Given the description of an element on the screen output the (x, y) to click on. 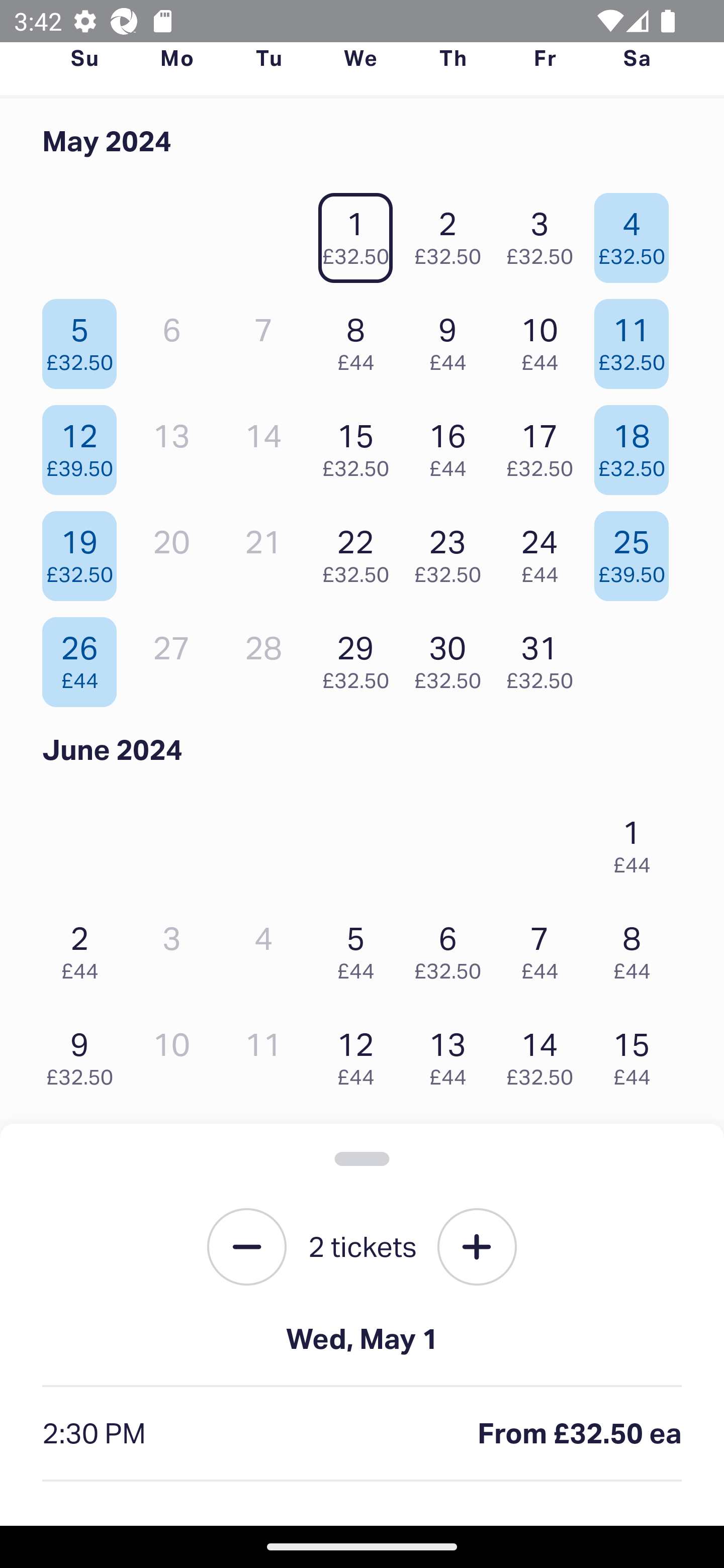
1 £32.50 (360, 232)
2 £32.50 (452, 232)
3 £32.50 (544, 232)
4 £32.50 (636, 232)
5 £32.50 (84, 339)
8 £44 (360, 339)
9 £44 (452, 339)
10 £44 (544, 339)
11 £32.50 (636, 339)
12 £39.50 (84, 445)
15 £32.50 (360, 445)
16 £44 (452, 445)
17 £32.50 (544, 445)
18 £32.50 (636, 445)
19 £32.50 (84, 550)
22 £32.50 (360, 550)
23 £32.50 (452, 550)
24 £44 (544, 550)
25 £39.50 (636, 550)
26 £44 (84, 657)
29 £32.50 (360, 657)
30 £32.50 (452, 657)
31 £32.50 (544, 657)
1 £44 (636, 841)
2 £44 (84, 947)
5 £44 (360, 947)
6 £32.50 (452, 947)
7 £44 (544, 947)
8 £44 (636, 947)
9 £32.50 (84, 1054)
12 £44 (360, 1054)
13 £44 (452, 1054)
14 £32.50 (544, 1054)
15 £44 (636, 1054)
2:30 PM From £32.50 ea (361, 1434)
